Given the description of an element on the screen output the (x, y) to click on. 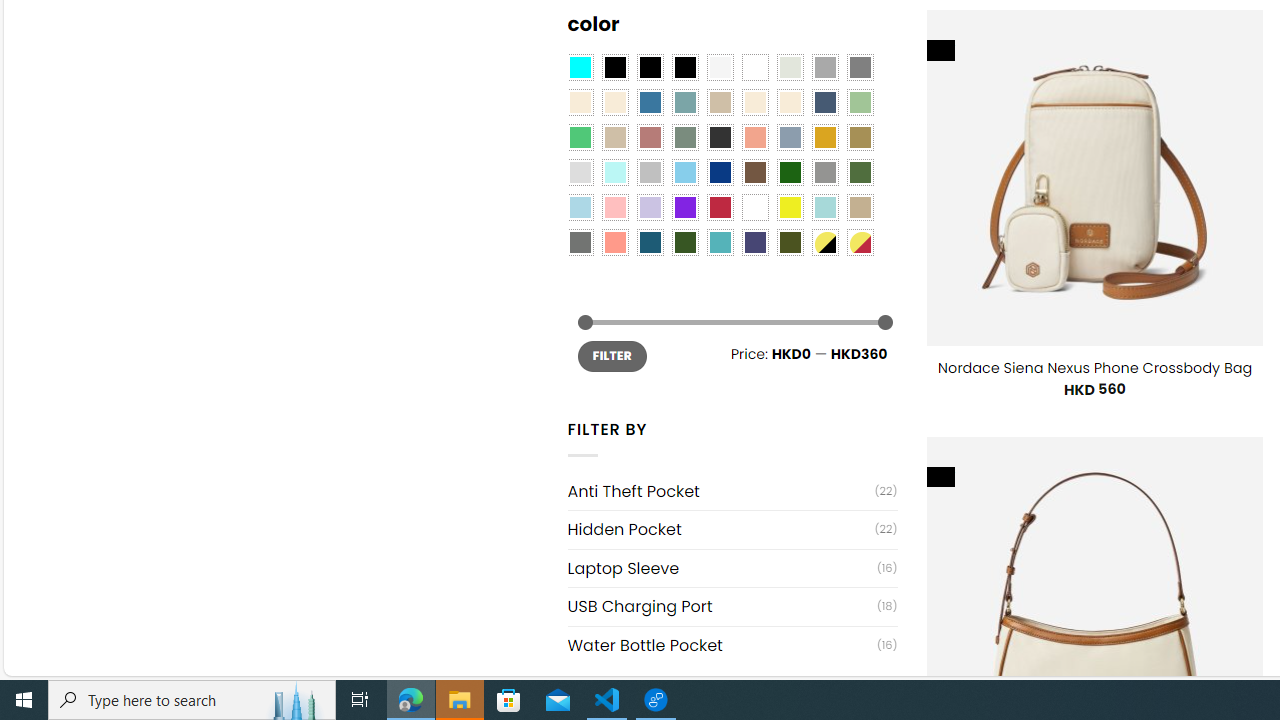
Laptop Sleeve(16) (732, 567)
Water Bottle Pocket (721, 645)
Water Bottle Pocket(16) (732, 644)
Dull Nickle (579, 242)
Red (719, 208)
Navy Blue (719, 172)
Sky Blue (684, 172)
